Given the description of an element on the screen output the (x, y) to click on. 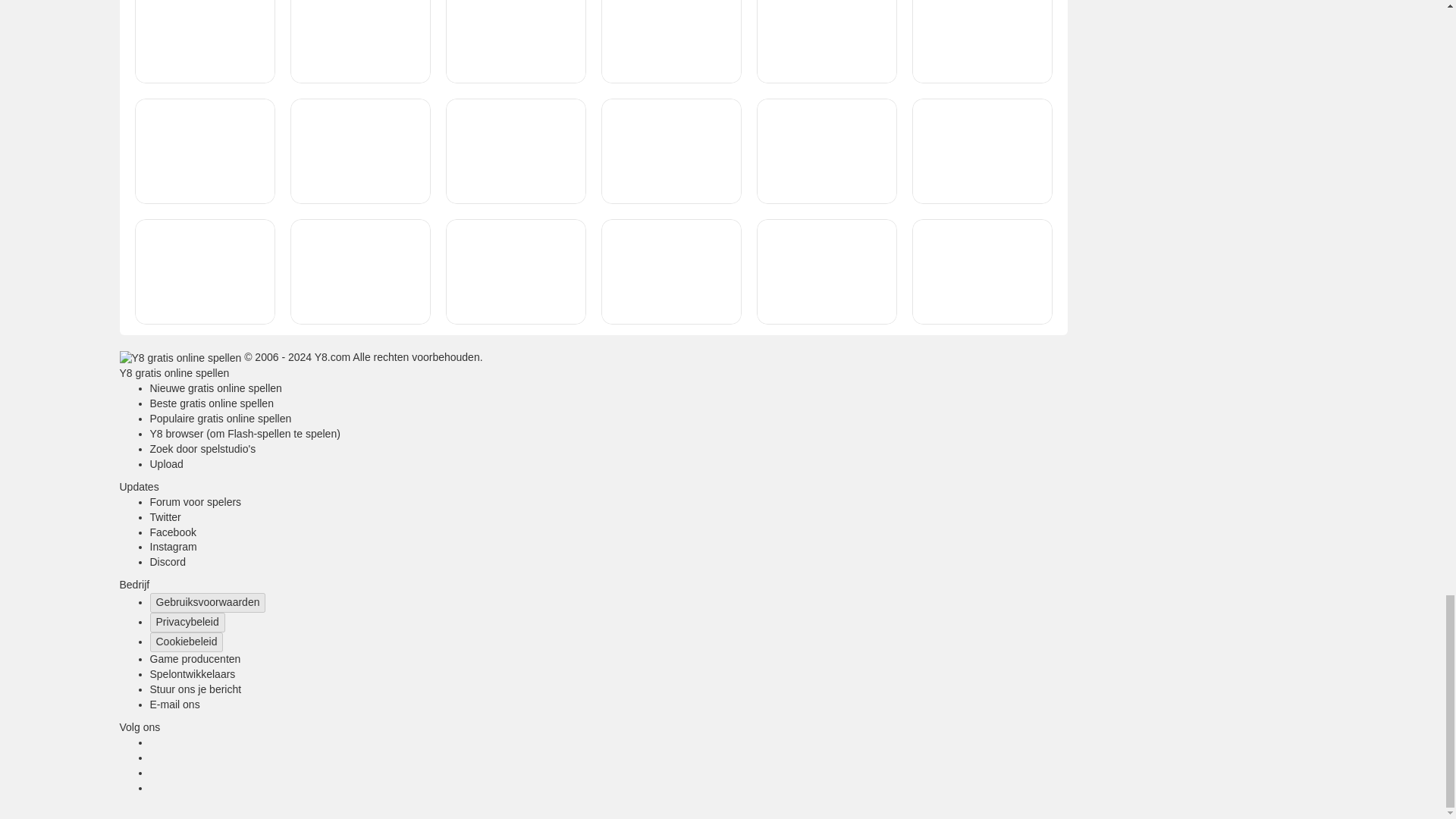
Privacybeleid (187, 622)
Gebruiksvoorwaarden (207, 602)
Cookiebeleid (186, 641)
